Given the description of an element on the screen output the (x, y) to click on. 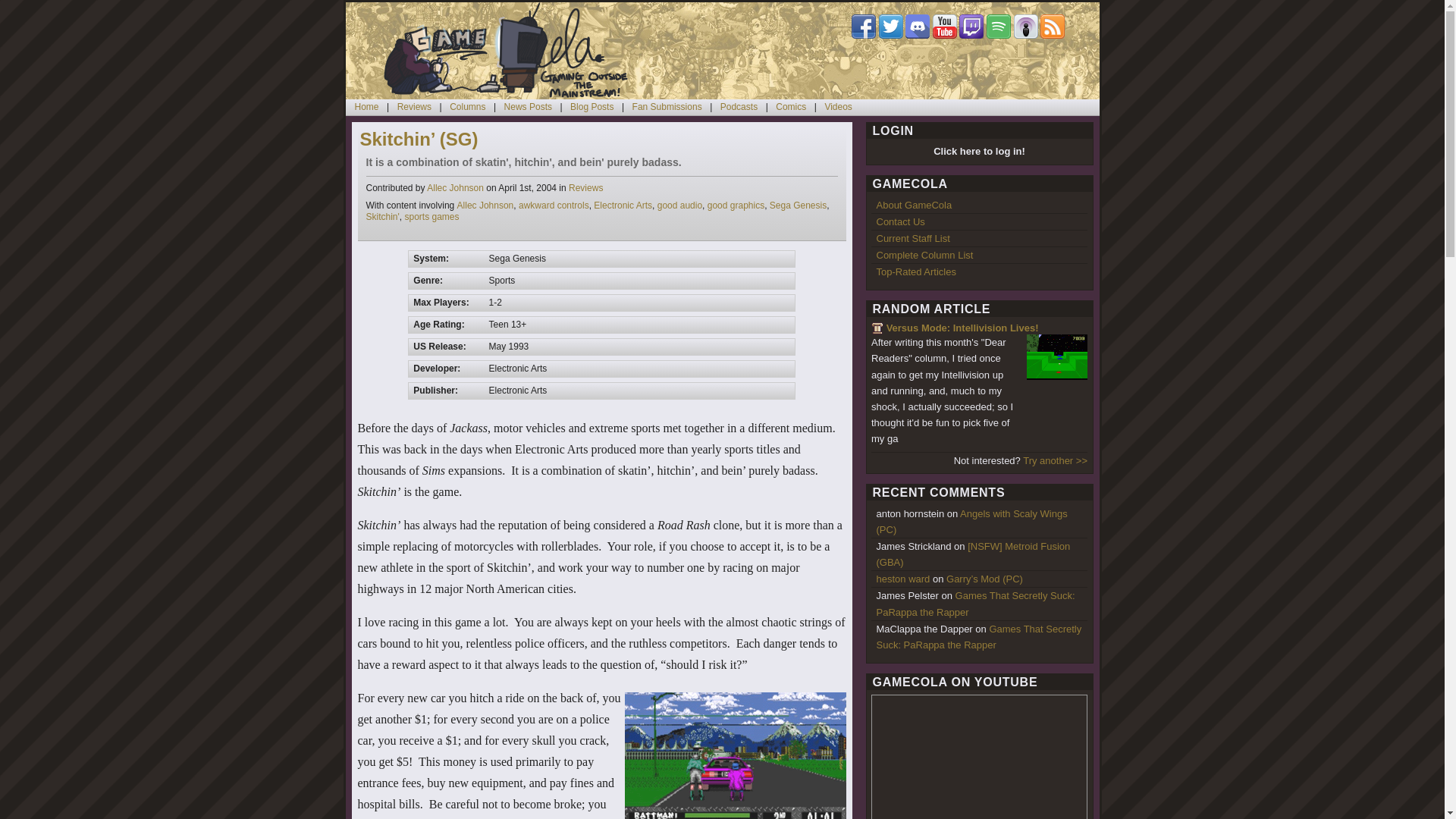
GameCola on Spotify (998, 26)
good graphics (735, 204)
Reviews (585, 187)
awkward controls (508, 50)
GameCola on Twitch.tv (553, 204)
Sega Genesis (971, 26)
Podcasts (798, 204)
Columns (738, 106)
Blog Posts (467, 106)
